Given the description of an element on the screen output the (x, y) to click on. 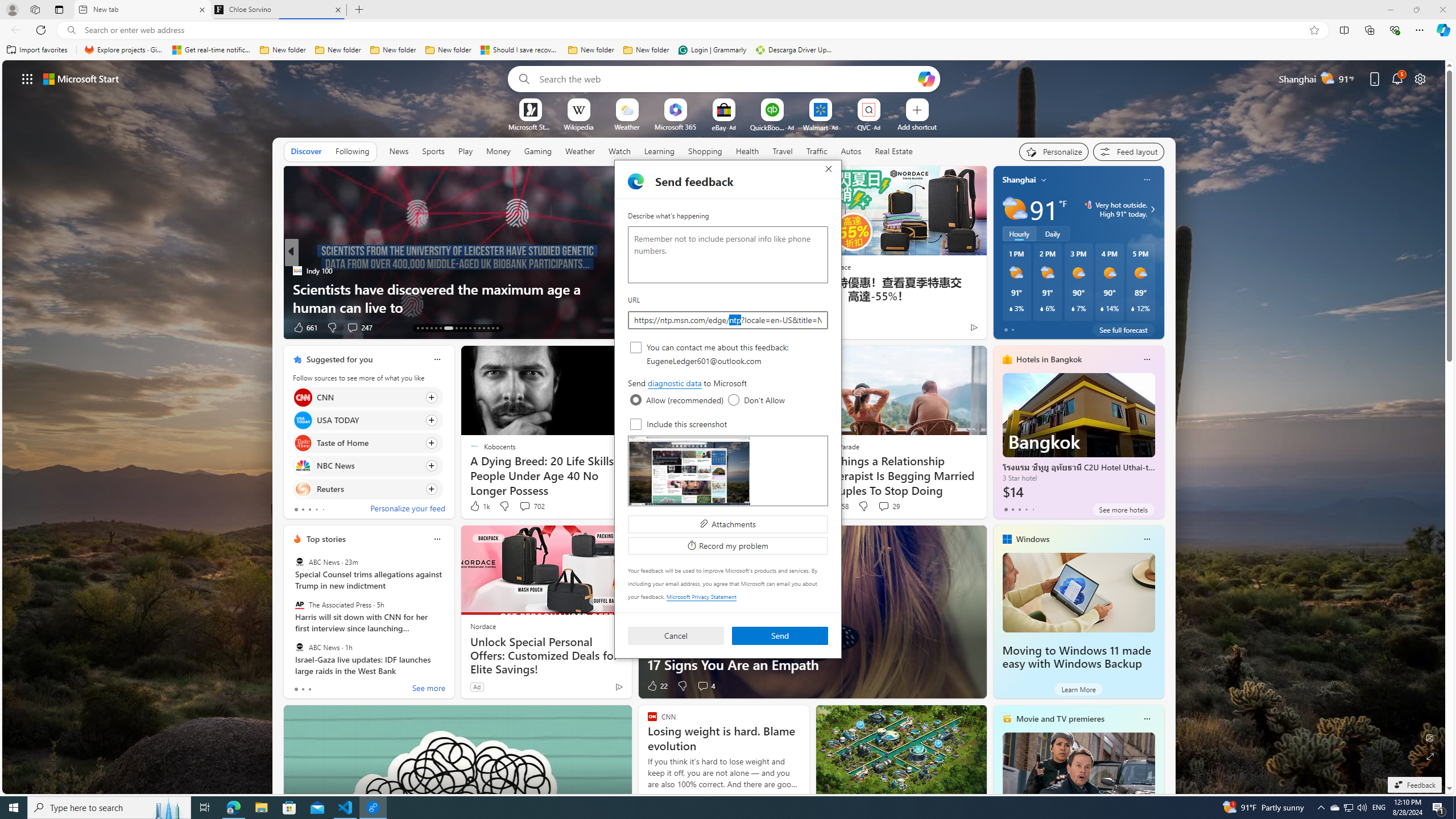
News (398, 151)
See more hotels (1123, 509)
Health (746, 151)
Describe what's happening (727, 255)
App launcher (27, 78)
View comments 4 Comment (705, 685)
See full forecast (1123, 329)
Allow (recommended) (636, 399)
View comments 4 Comment (703, 685)
AutomationID: tab-24 (474, 328)
Feed settings (1128, 151)
Traffic (816, 151)
